Given the description of an element on the screen output the (x, y) to click on. 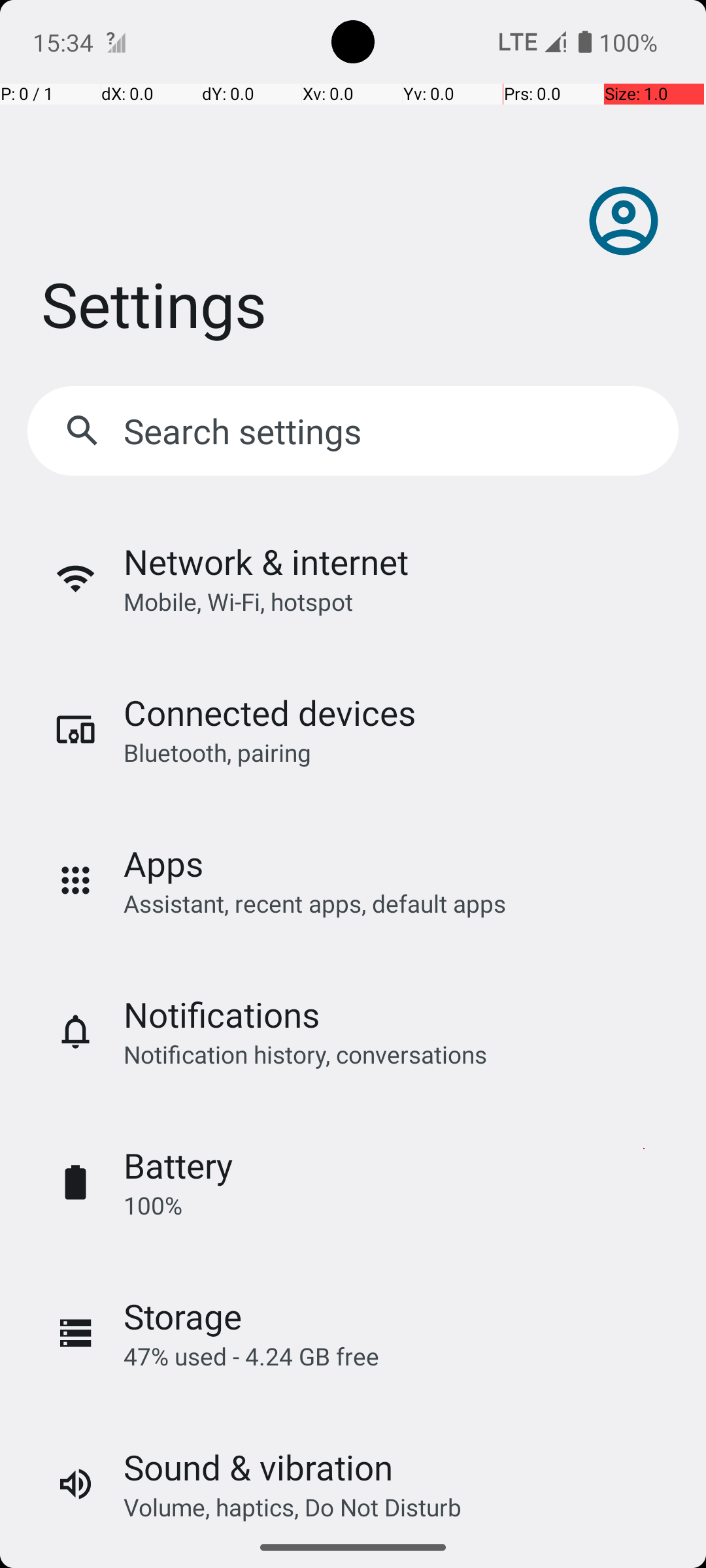
47% used - 4.24 GB free Element type: android.widget.TextView (251, 1355)
